Given the description of an element on the screen output the (x, y) to click on. 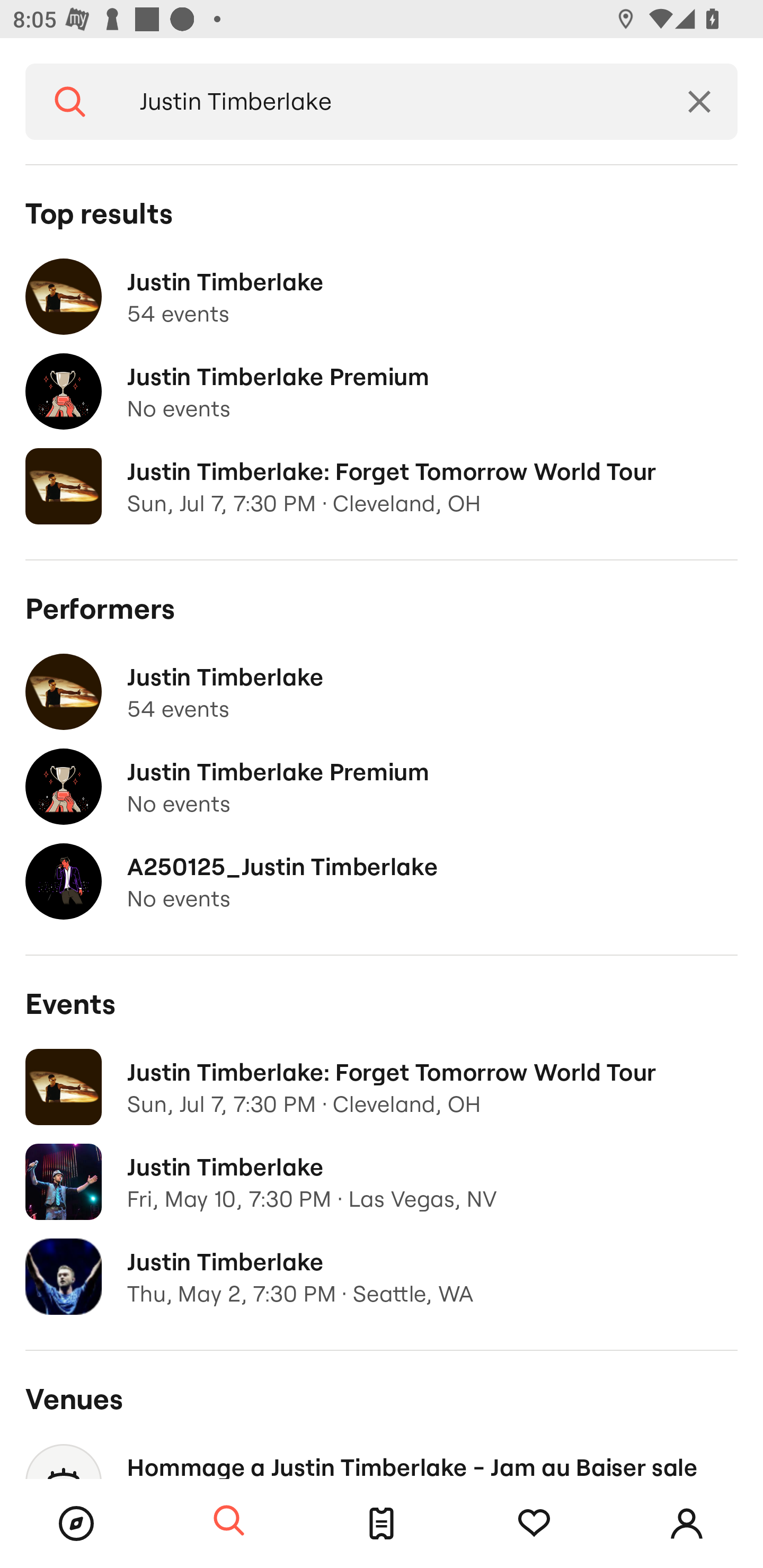
Search (69, 101)
Justin Timberlake (387, 101)
Clear (699, 101)
Justin Timberlake 54 events (381, 296)
Justin Timberlake Premium No events (381, 391)
Justin Timberlake 54 events (381, 692)
Justin Timberlake Premium No events (381, 787)
A250125_Justin Timberlake No events (381, 881)
Browse (76, 1523)
Search (228, 1521)
Tickets (381, 1523)
Tracking (533, 1523)
Account (686, 1523)
